Given the description of an element on the screen output the (x, y) to click on. 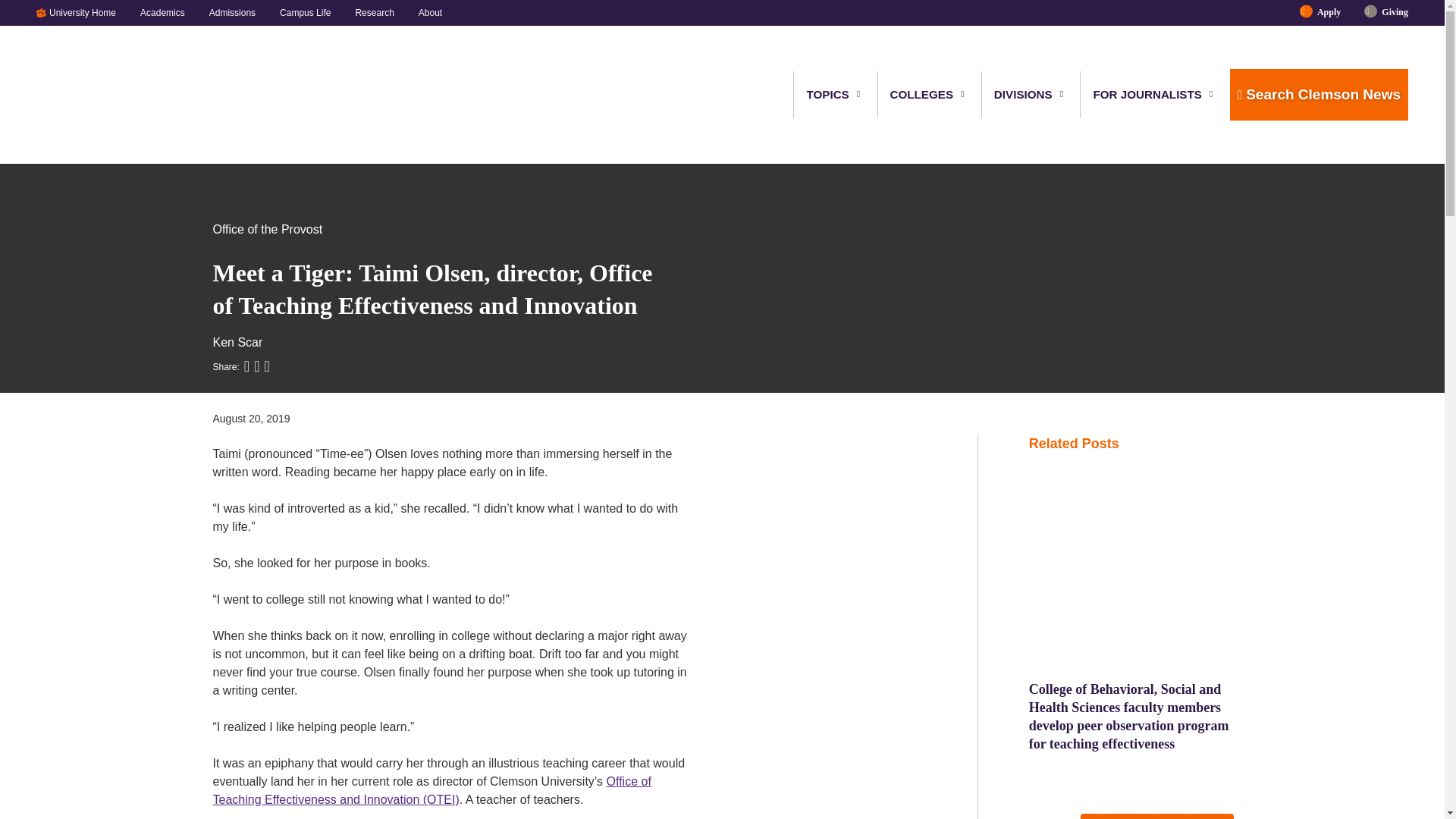
About (424, 12)
Clemson News (114, 94)
University Home (88, 12)
Giving (1388, 11)
Posts by Ken Scar (237, 341)
TOPICS (828, 94)
Academics (162, 12)
Apply (1328, 11)
DIVISIONS (1023, 94)
Admissions (231, 12)
Research (374, 12)
COLLEGES (922, 94)
Campus Life (304, 12)
